Given the description of an element on the screen output the (x, y) to click on. 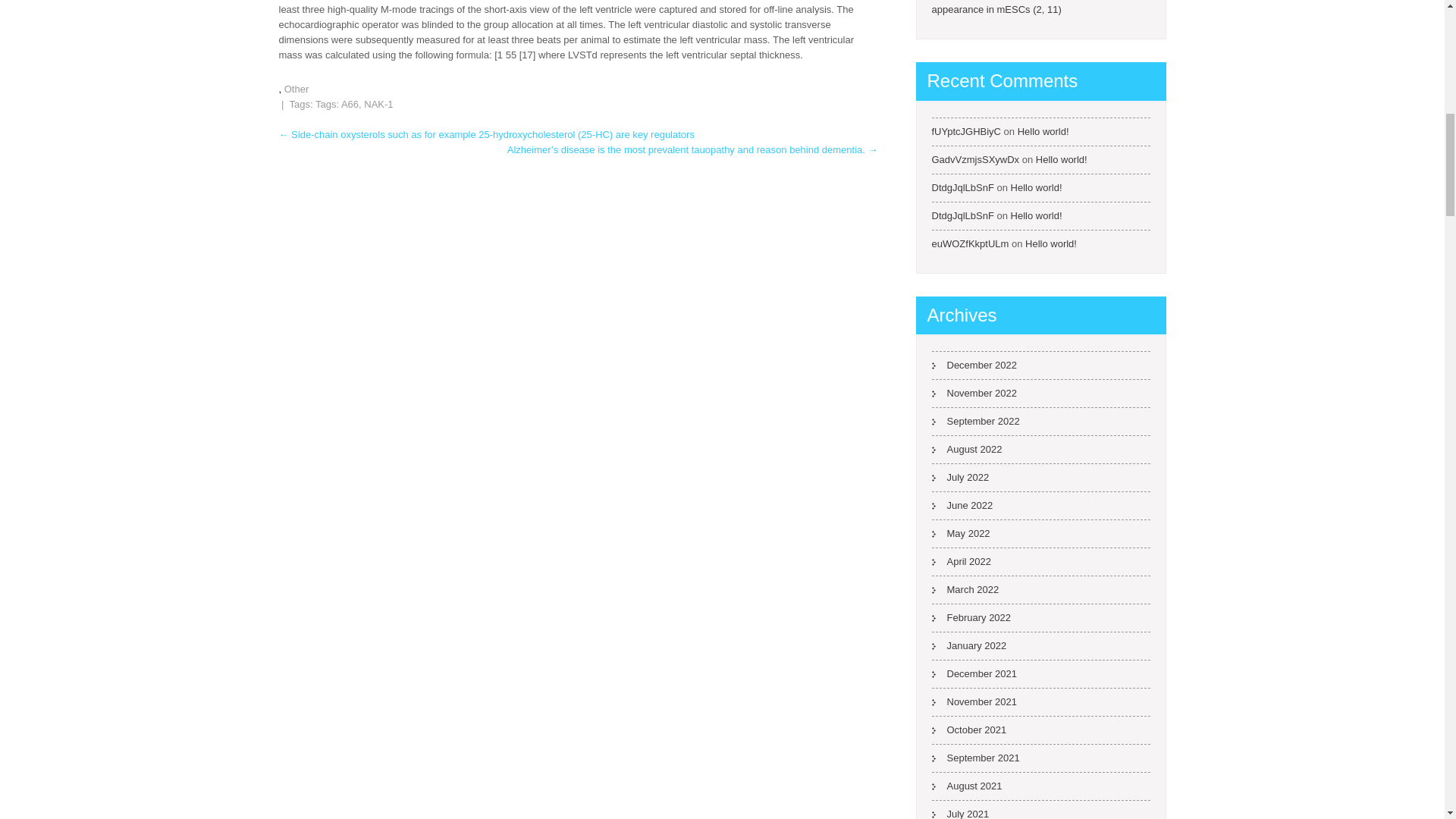
March 2022 (964, 589)
January 2022 (968, 645)
Hello world! (1042, 131)
February 2022 (970, 617)
fUYptcJGHBiyC (966, 131)
Hello world! (1036, 187)
euWOZfKkptULm (970, 243)
August 2022 (966, 448)
A66 (349, 103)
May 2022 (960, 533)
